Given the description of an element on the screen output the (x, y) to click on. 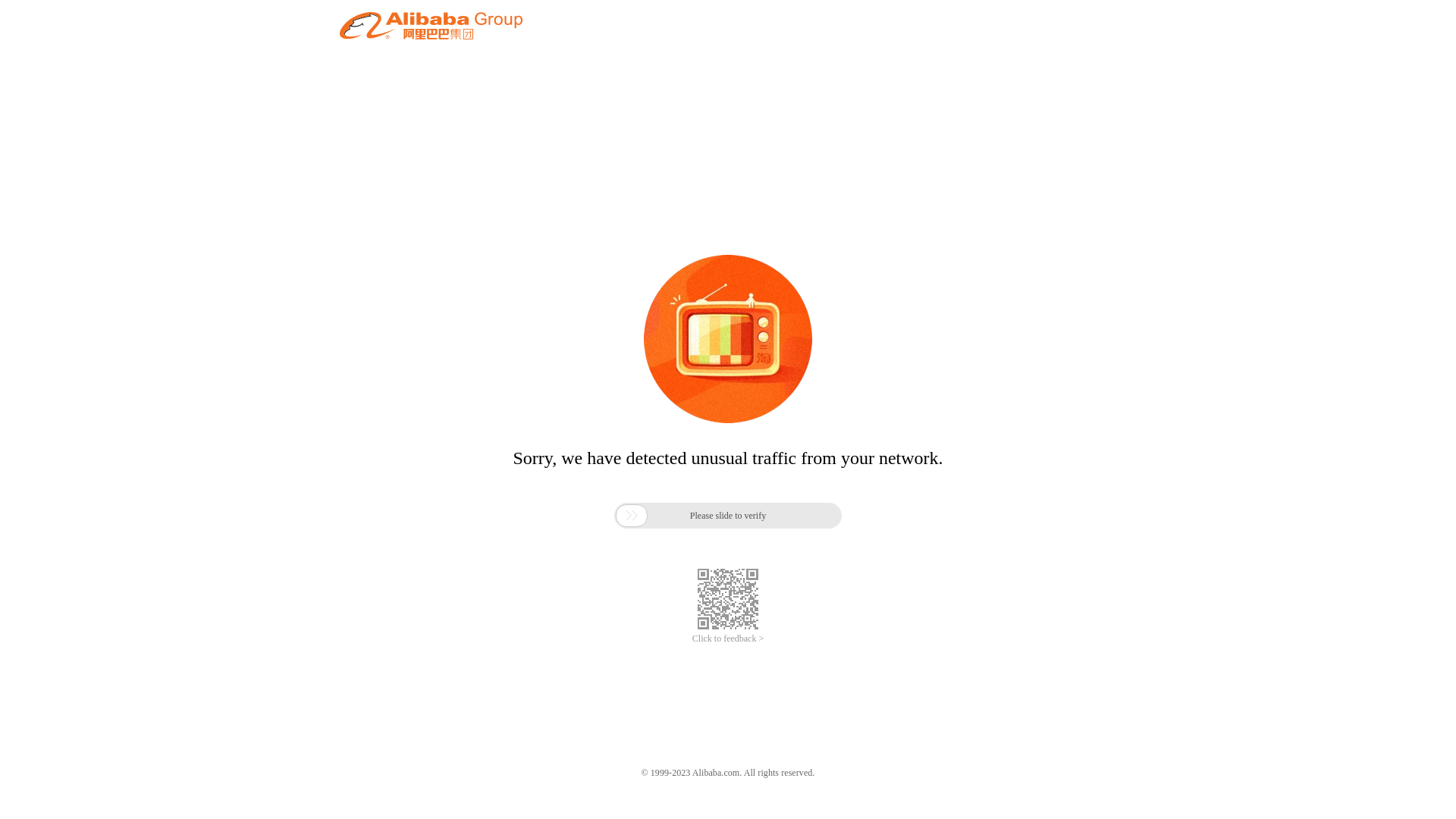
Click to feedback > Element type: text (727, 638)
